Given the description of an element on the screen output the (x, y) to click on. 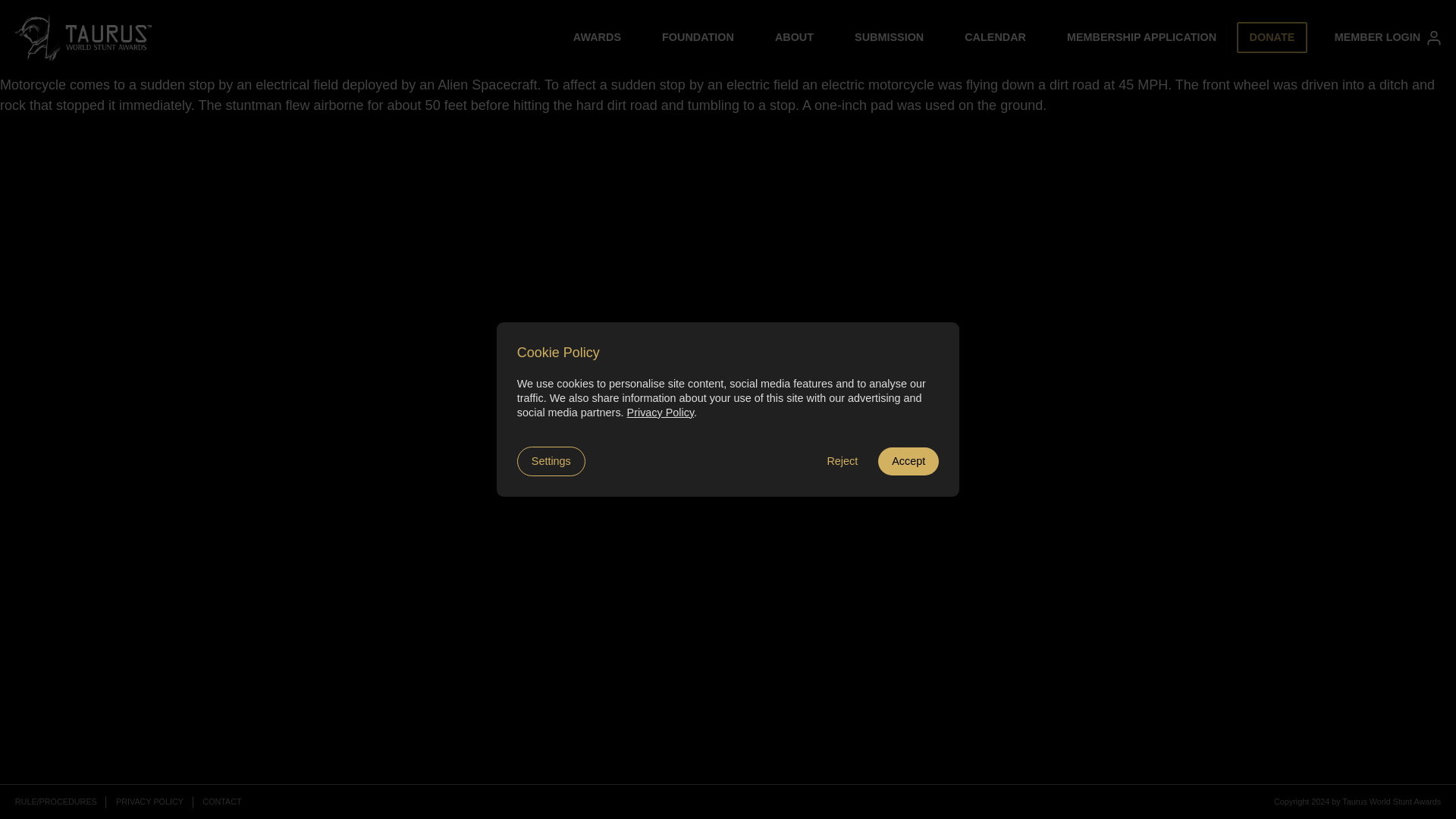
ABOUT (794, 37)
FOUNDATION (698, 37)
AWARDS (597, 37)
MEMBERSHIP APPLICATION (1141, 37)
MEMBER LOGIN (1388, 37)
DONATE (1271, 37)
CALENDAR (994, 37)
SUBMISSION (888, 37)
